Given the description of an element on the screen output the (x, y) to click on. 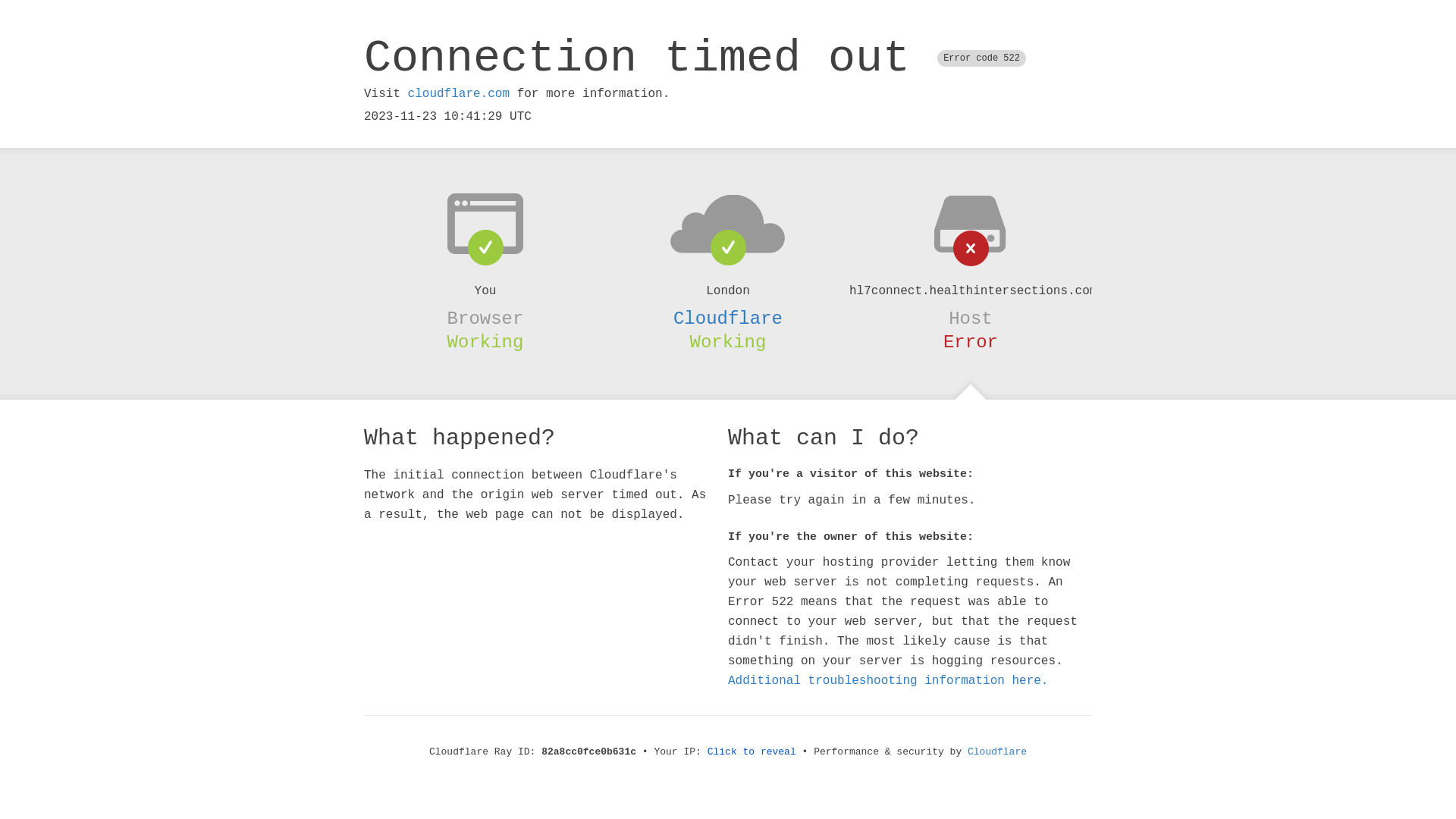
Additional troubleshooting information here. Element type: text (888, 680)
Cloudflare Element type: text (996, 751)
Cloudflare Element type: text (727, 318)
Click to reveal Element type: text (751, 751)
cloudflare.com Element type: text (458, 93)
